Given the description of an element on the screen output the (x, y) to click on. 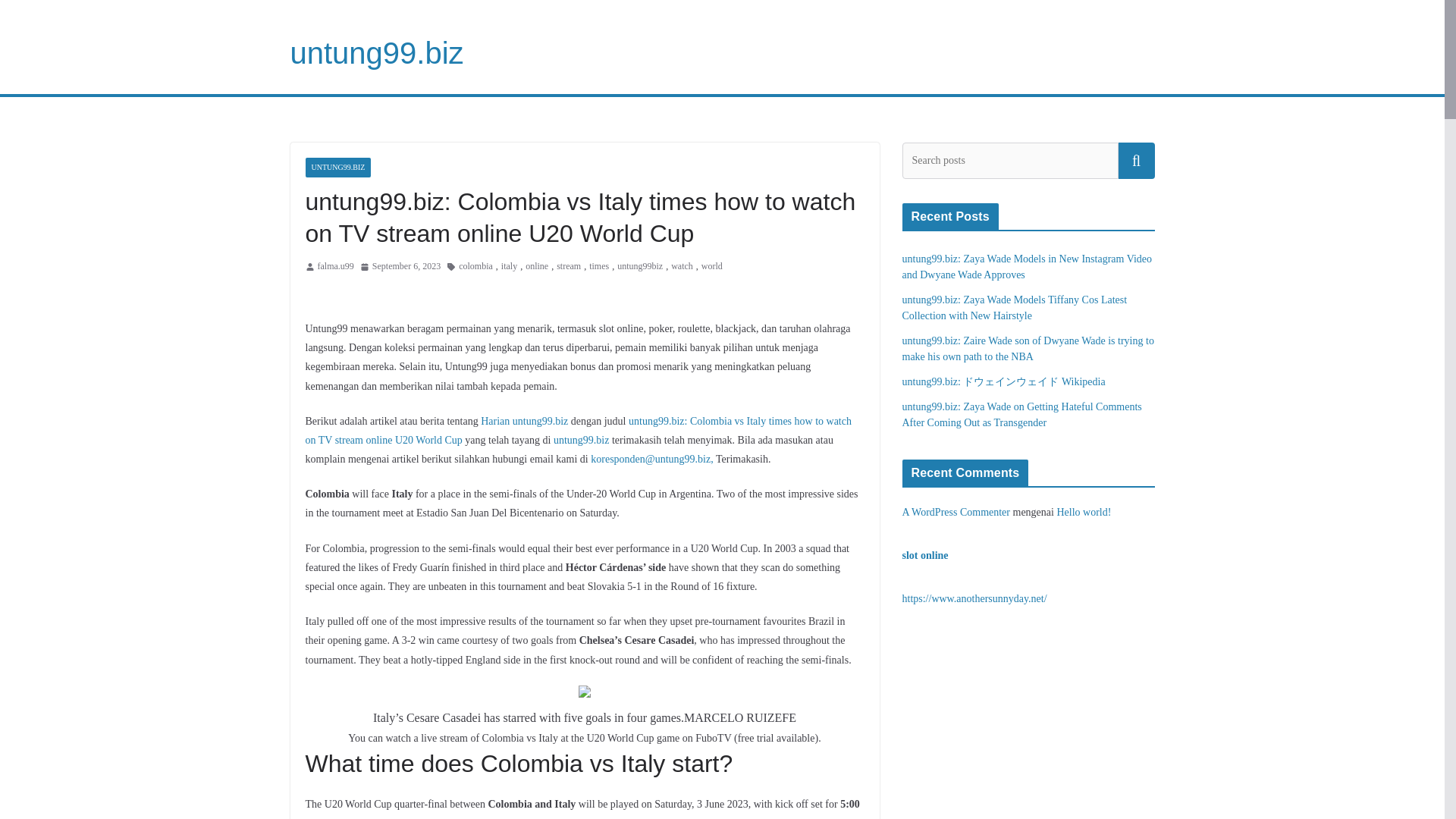
untung99biz (639, 266)
times (598, 266)
A WordPress Commenter (956, 511)
world (711, 266)
untung99.biz (376, 52)
September 6, 2023 (400, 266)
UNTUNG99.BIZ (337, 167)
8:58 am (400, 266)
